Given the description of an element on the screen output the (x, y) to click on. 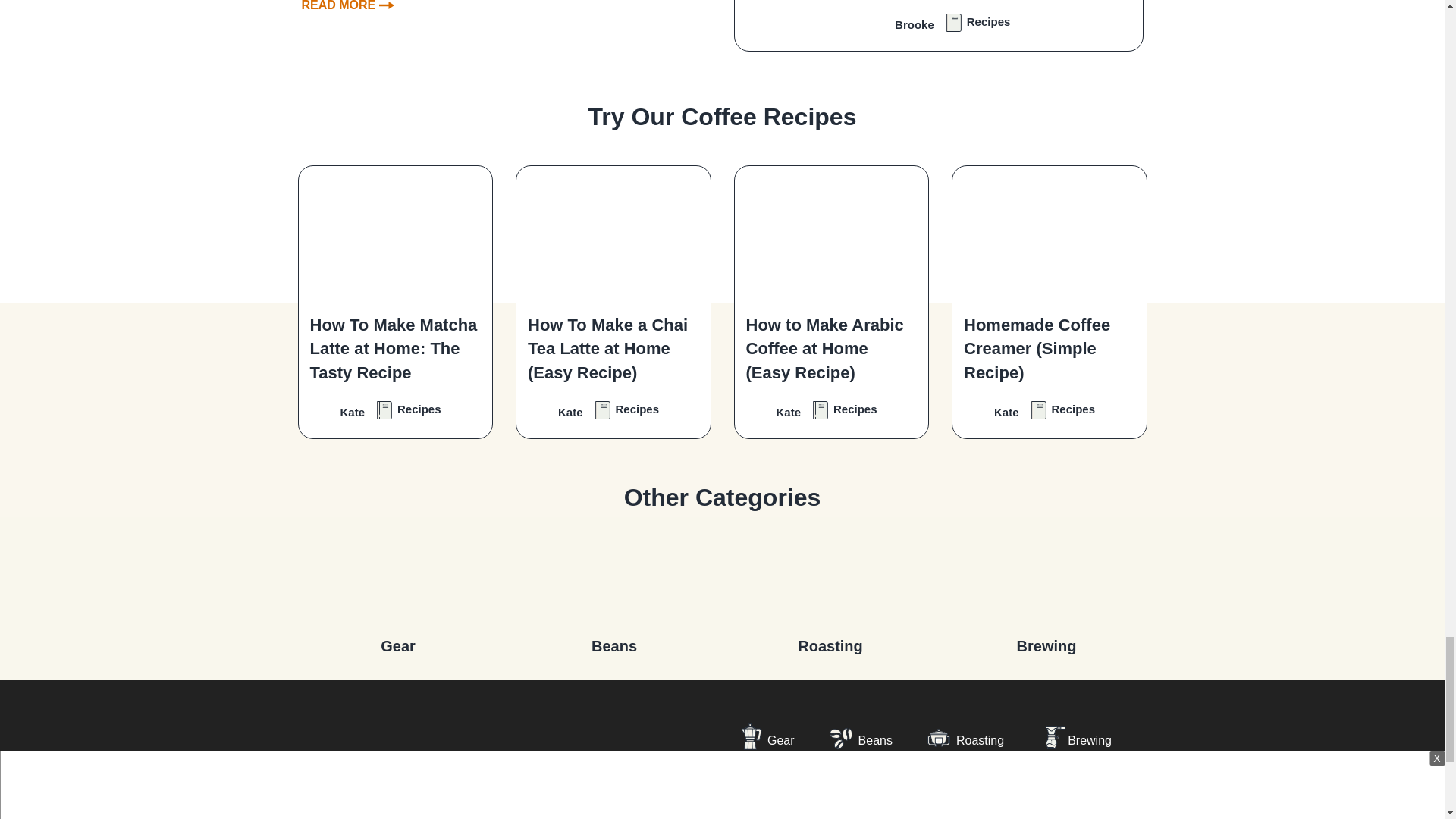
Search (1122, 783)
Brewing (1046, 579)
Roasting (829, 579)
Beans (614, 579)
Gear (397, 579)
